Given the description of an element on the screen output the (x, y) to click on. 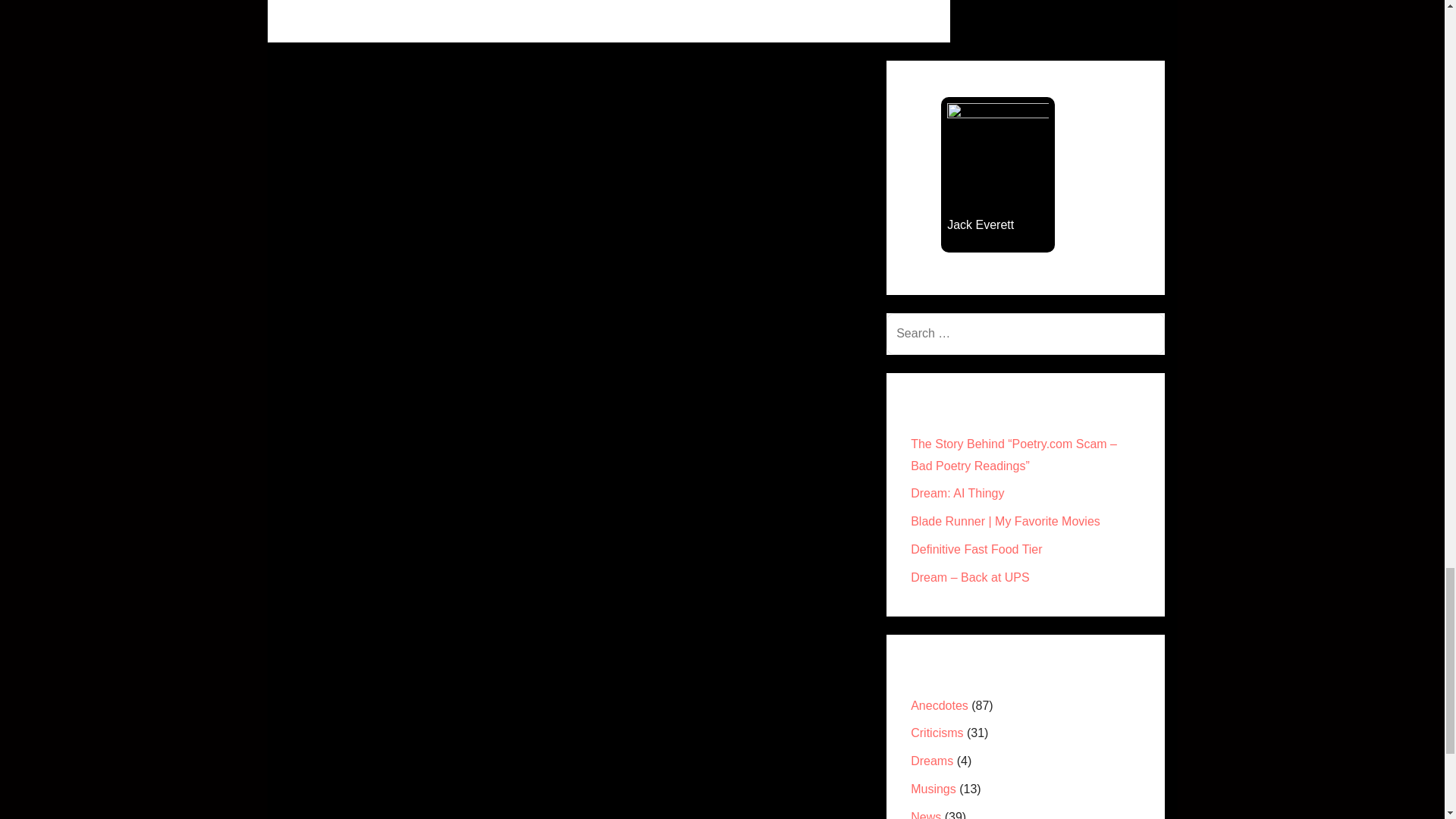
News (925, 814)
Dreams (932, 760)
Musings (933, 788)
Criticisms (936, 732)
Definitive Fast Food Tier (976, 549)
Anecdotes (939, 705)
Dream: AI Thingy (957, 492)
